Given the description of an element on the screen output the (x, y) to click on. 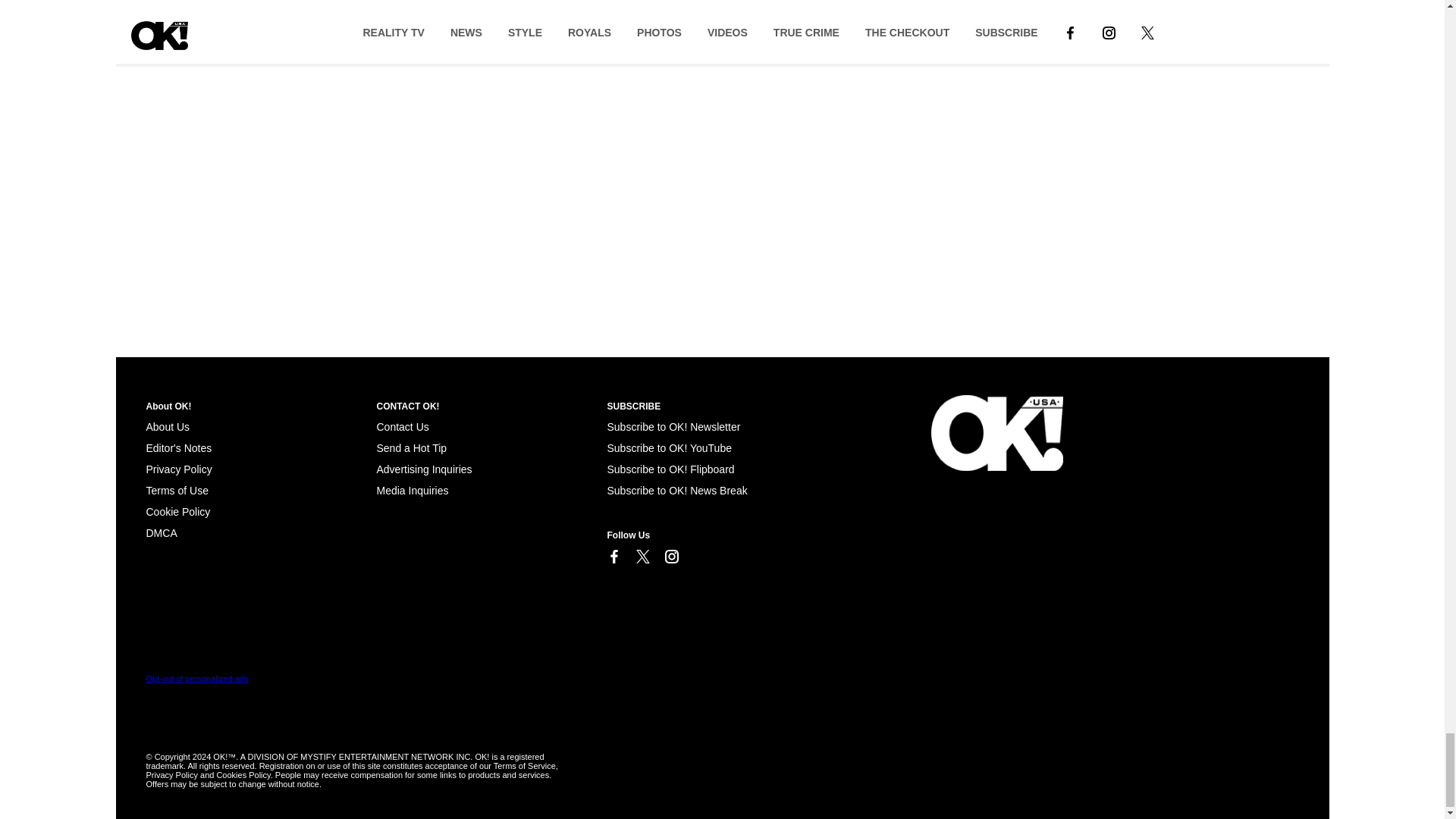
Link to Facebook (613, 556)
Media Inquiries (411, 490)
About Us (167, 426)
Terms of Use (176, 490)
Cookie Policy (177, 511)
Cookie Policy (160, 532)
Link to X (641, 556)
Advertising Inquiries (423, 469)
Send a Hot Tip (410, 448)
Link to Instagram (670, 556)
Contact Us (401, 426)
Editor's Notes (178, 448)
Privacy Policy (178, 469)
